Given the description of an element on the screen output the (x, y) to click on. 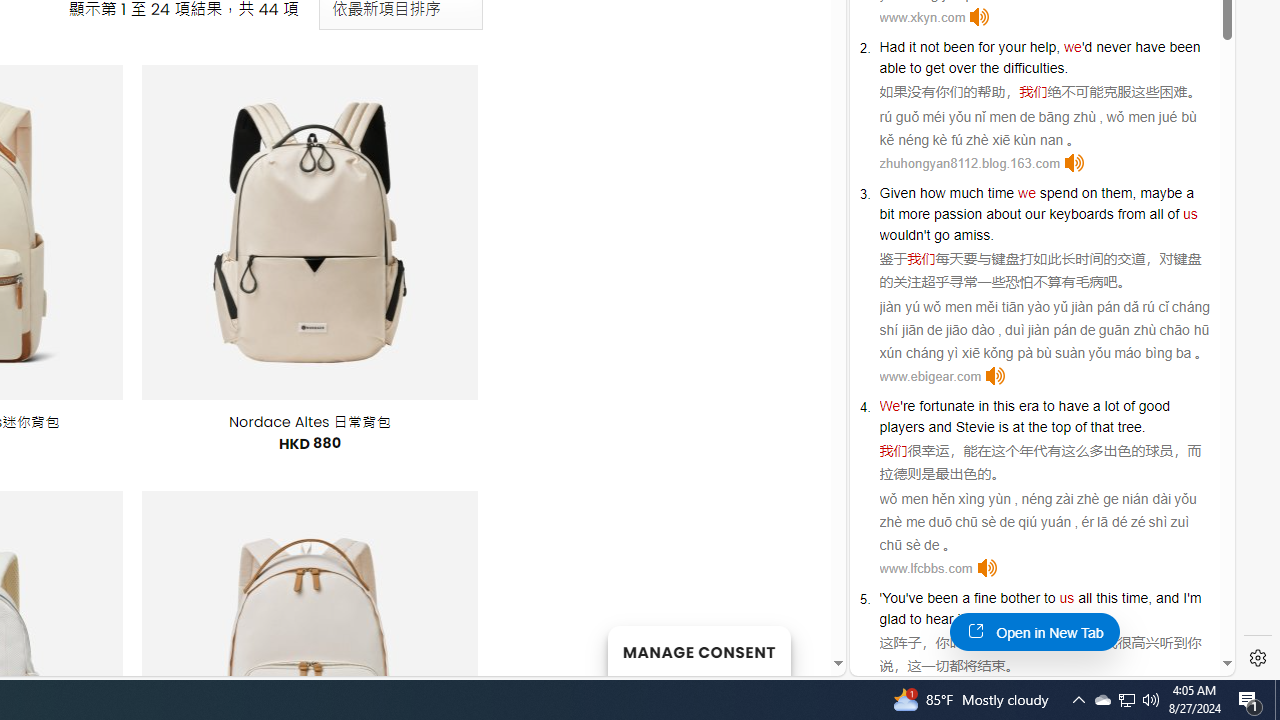
zhuhongyan8112.blog.163.com (969, 163)
lot (1111, 405)
We (890, 405)
